Given the description of an element on the screen output the (x, y) to click on. 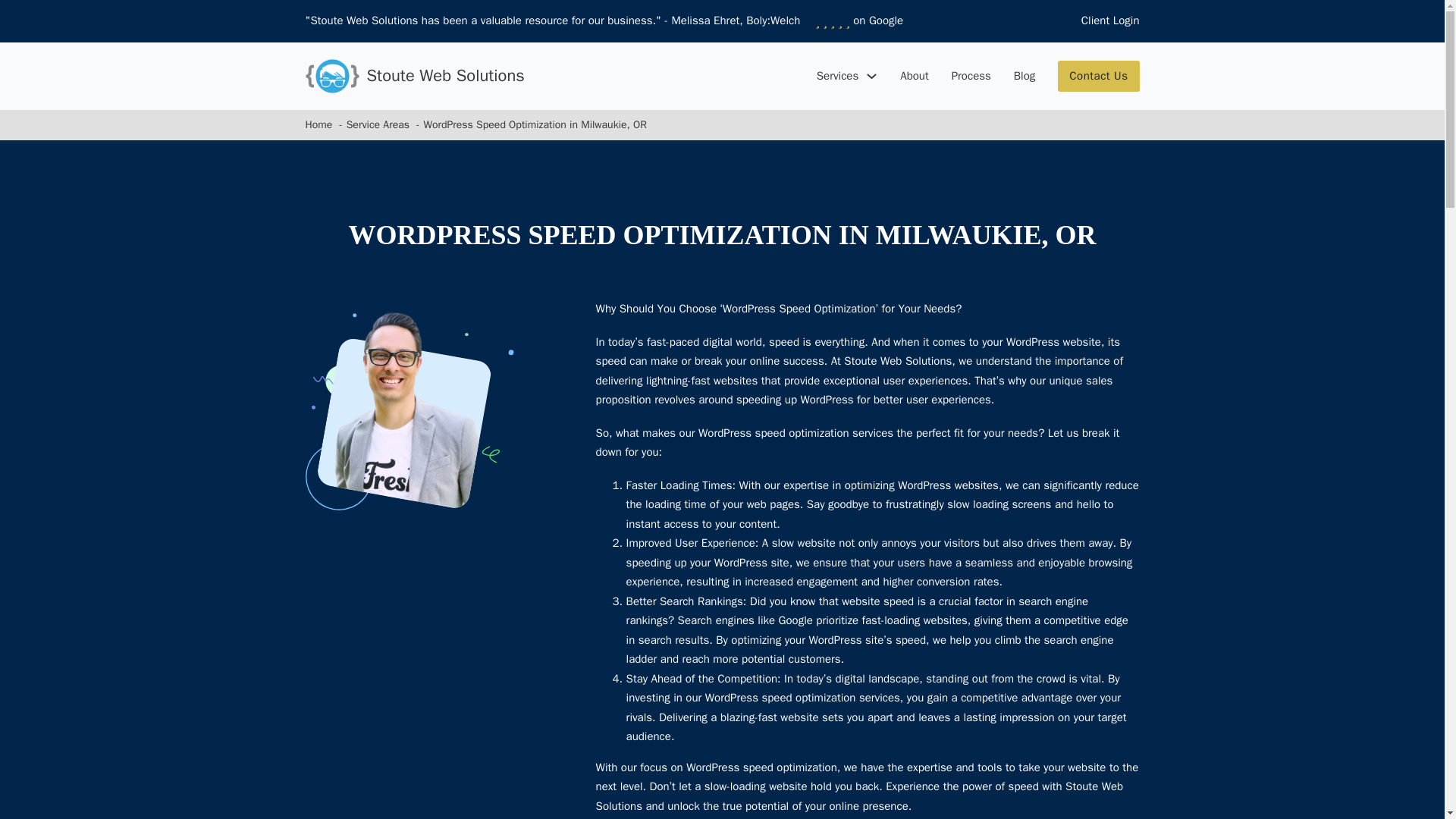
Client Login (1110, 21)
Contact Us (1098, 75)
Home (317, 124)
Blog (1024, 76)
About (913, 76)
Stoute Web Solutions (445, 76)
Service Areas (377, 124)
Process (971, 76)
